Given the description of an element on the screen output the (x, y) to click on. 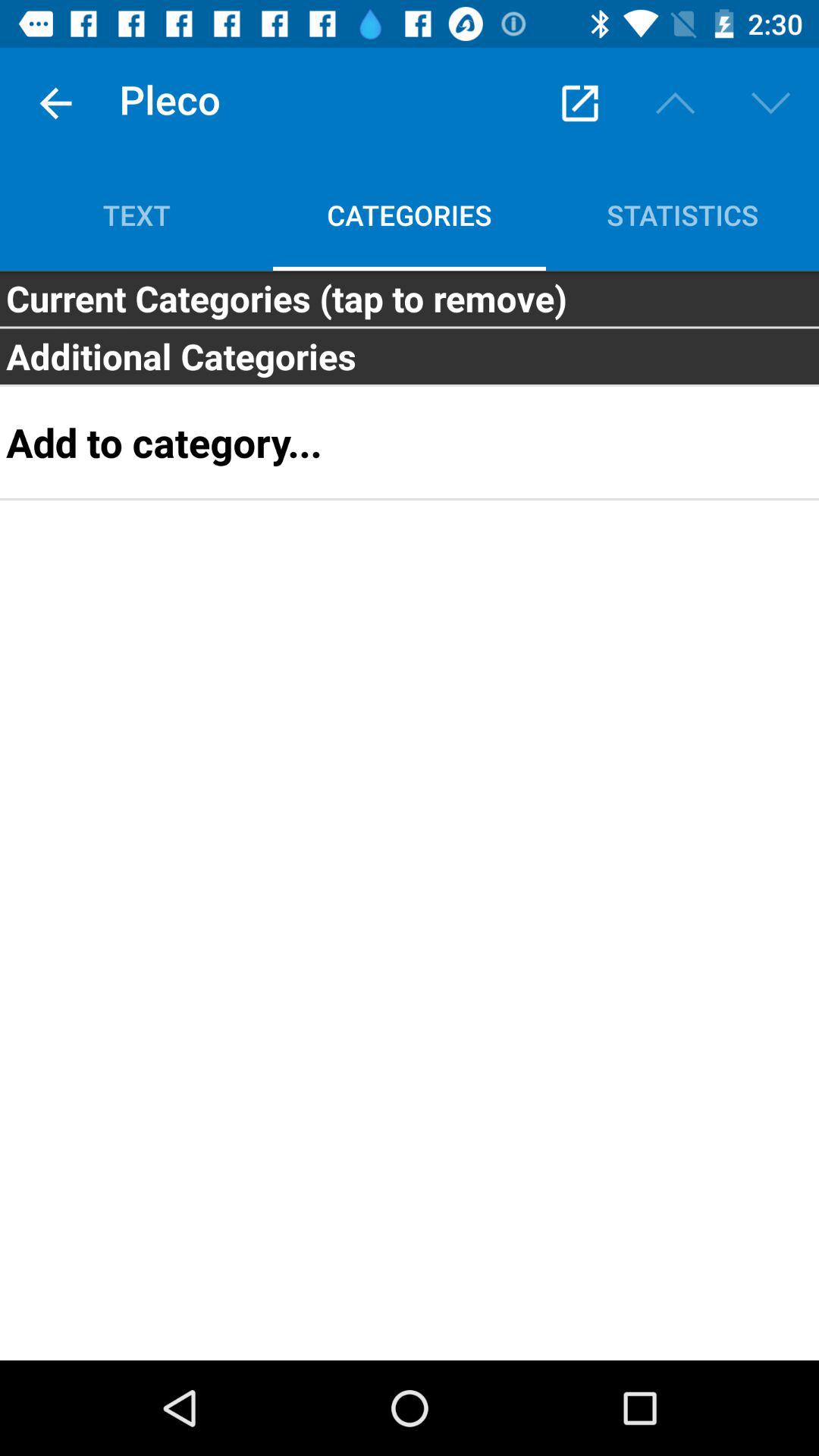
turn off item above categories icon (579, 103)
